Given the description of an element on the screen output the (x, y) to click on. 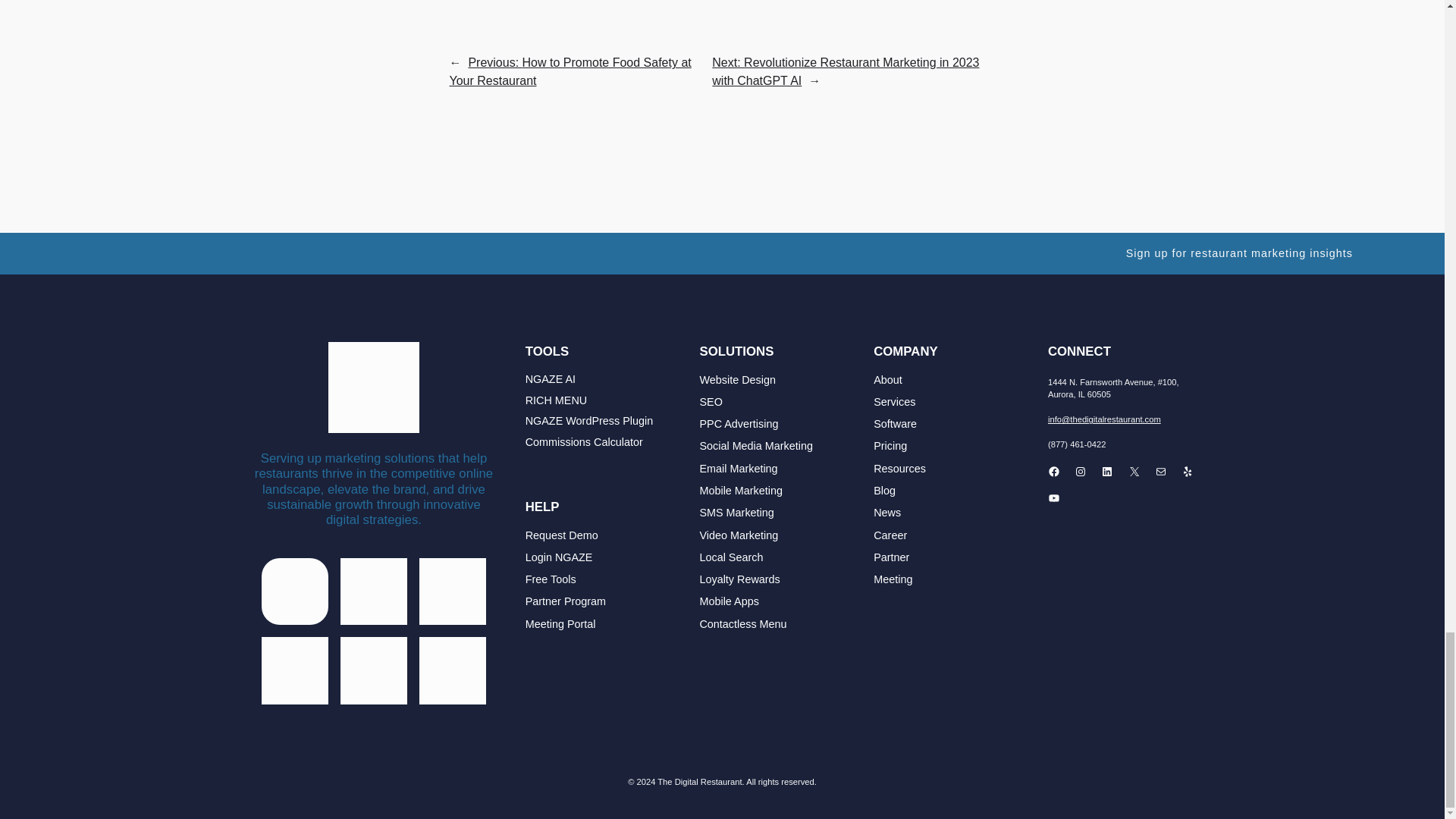
Sign up for restaurant marketing insights (1239, 253)
Commissions Calculator (584, 441)
Previous: How to Promote Food Safety at Your Restaurant (569, 71)
Request Demo (561, 534)
NGAZE WordPress Plugin (588, 421)
NGAZE AI (550, 379)
RICH MENU (556, 400)
